Given the description of an element on the screen output the (x, y) to click on. 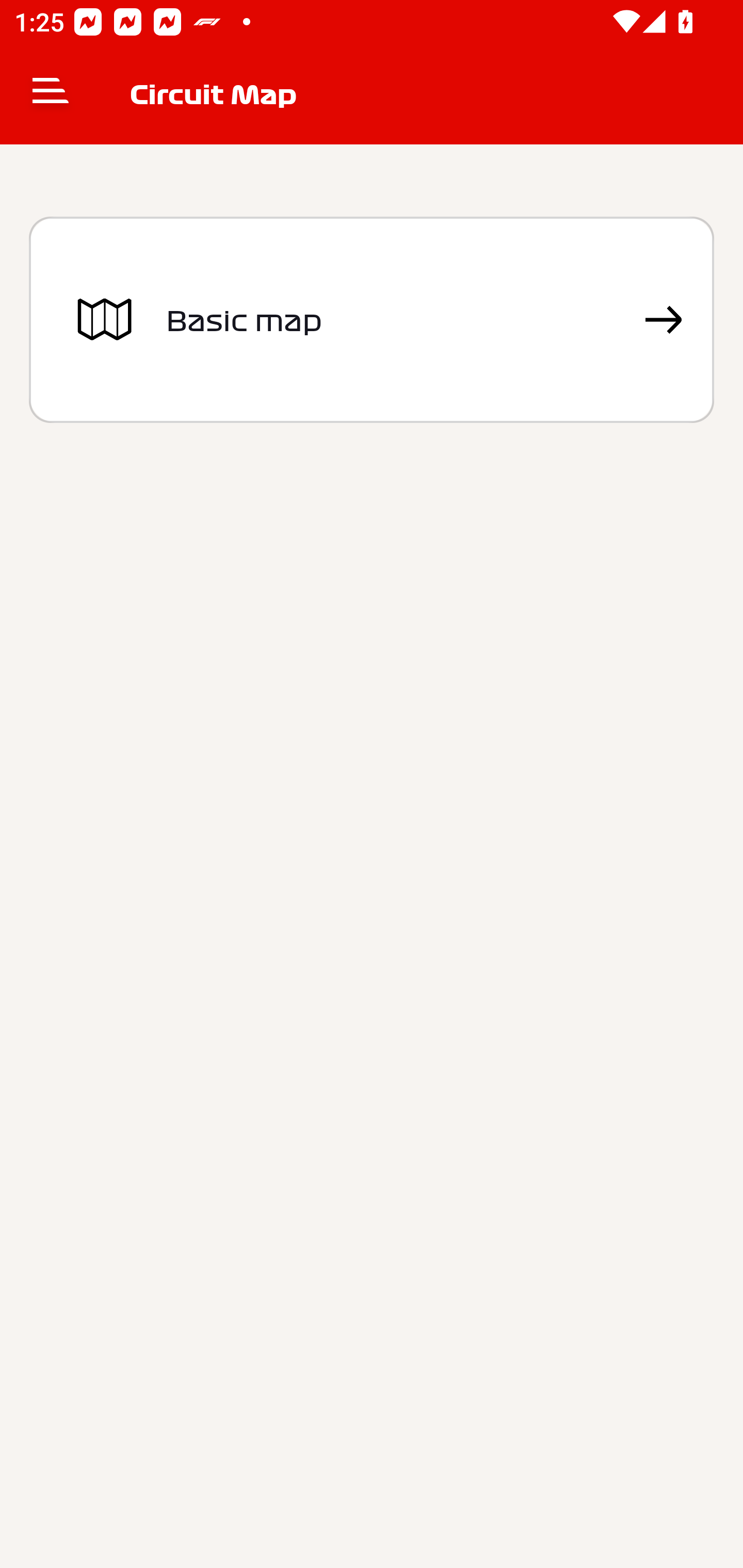
Navigate up (50, 93)
Basic map (371, 319)
